Given the description of an element on the screen output the (x, y) to click on. 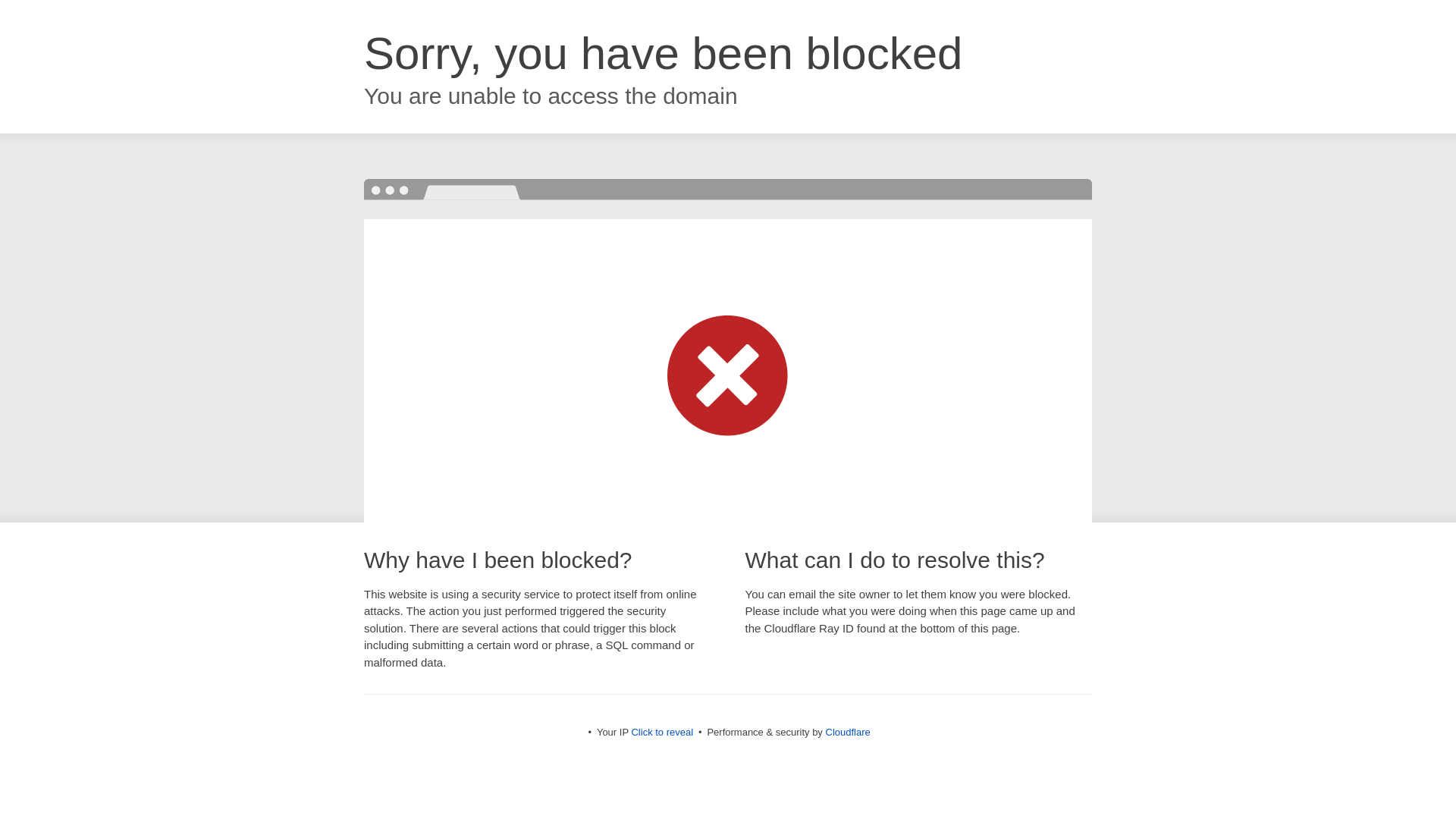
Cloudflare (847, 731)
Click to reveal (661, 731)
